Given the description of an element on the screen output the (x, y) to click on. 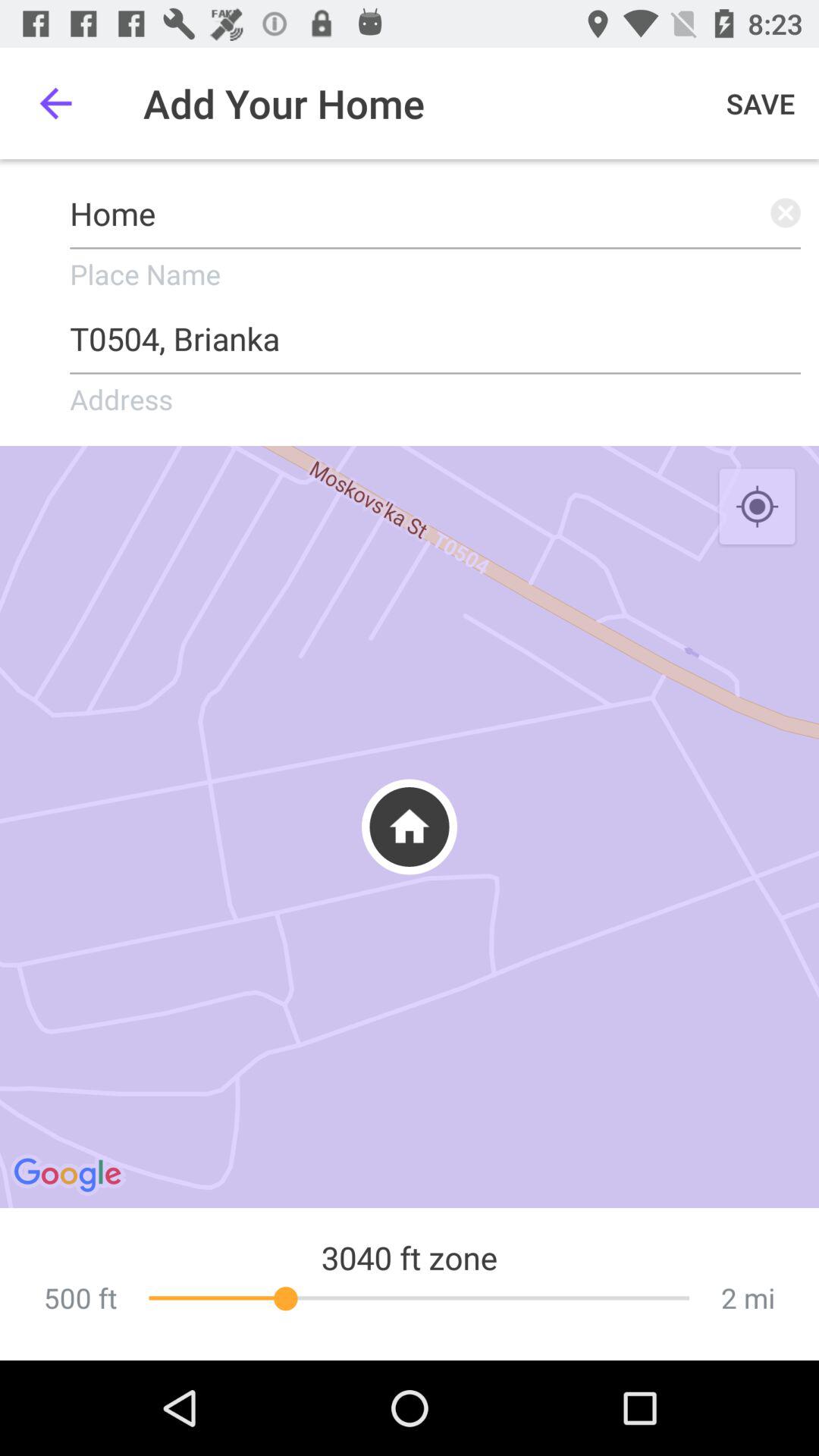
tap icon below place name item (434, 333)
